Given the description of an element on the screen output the (x, y) to click on. 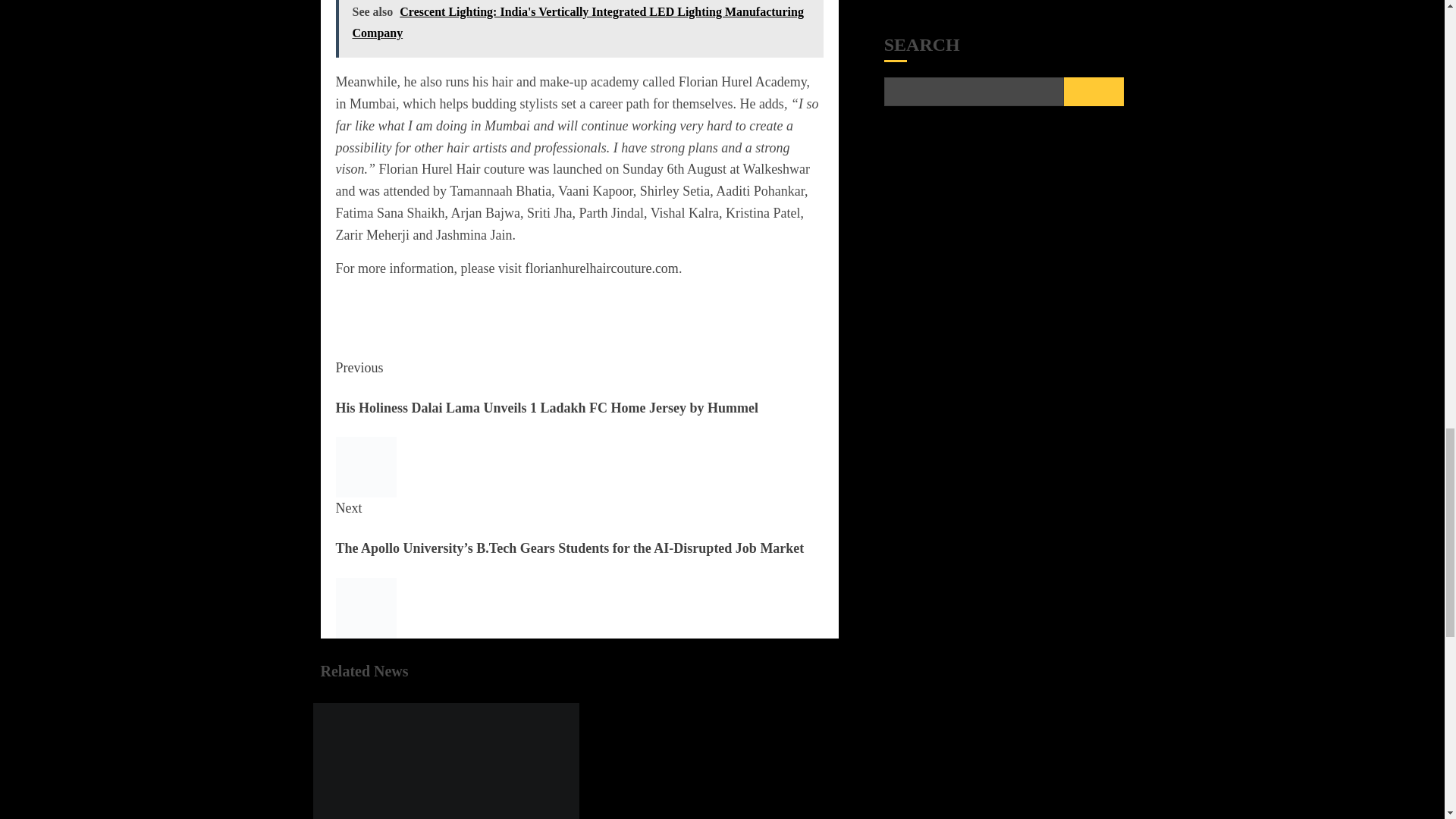
florianhurelhaircouture.com (601, 268)
